Given the description of an element on the screen output the (x, y) to click on. 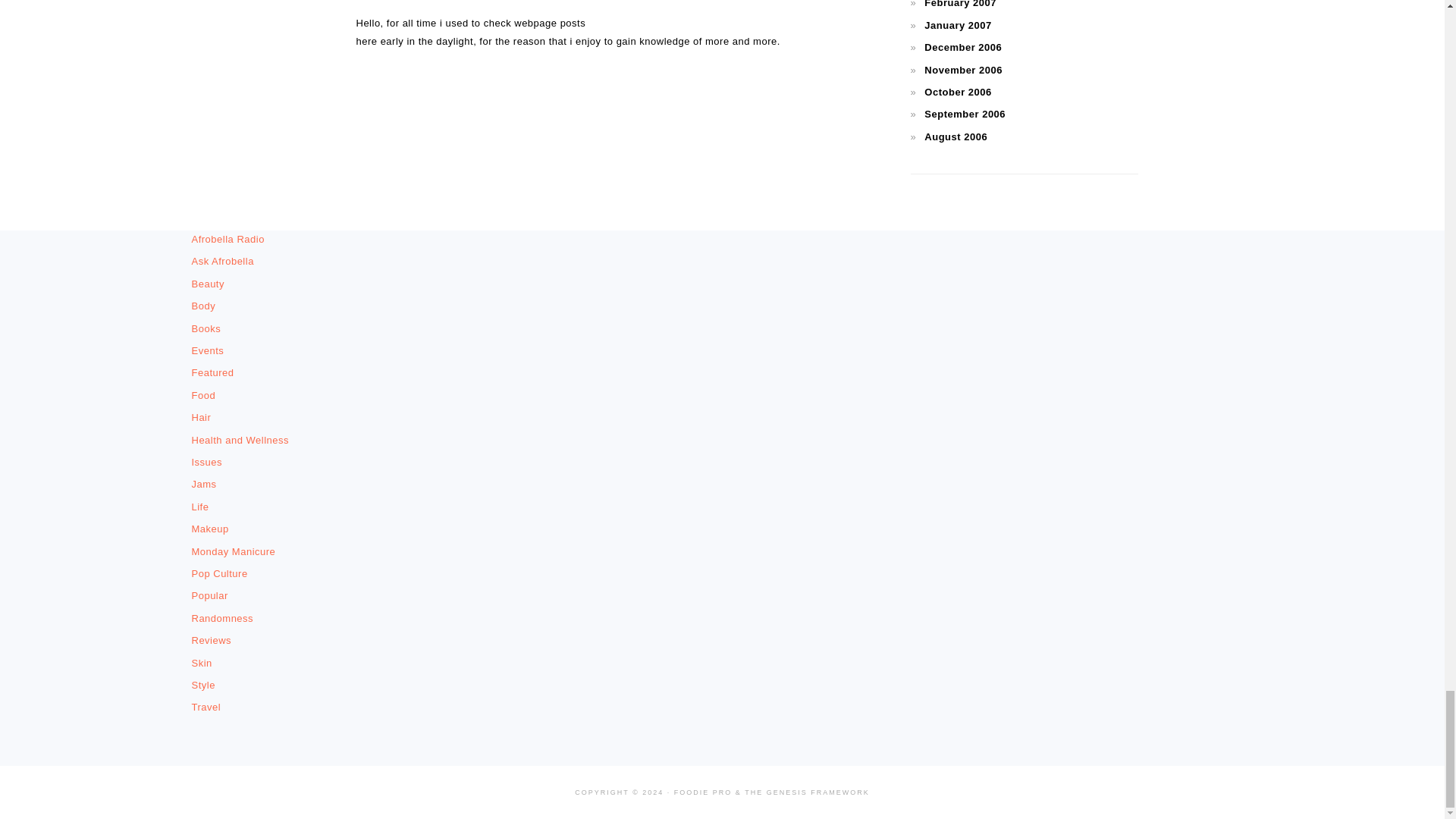
Afrobella Beauty (207, 283)
